Given the description of an element on the screen output the (x, y) to click on. 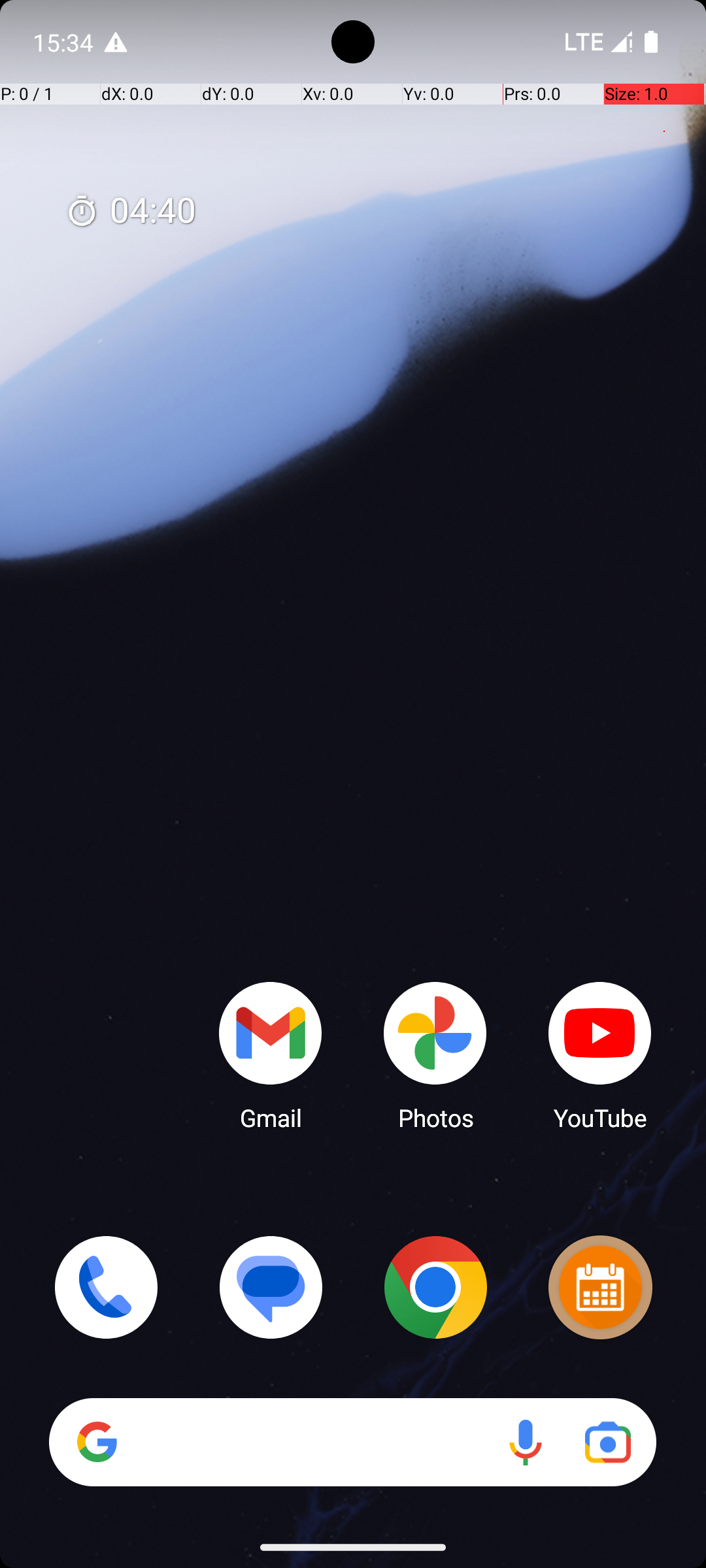
04:40 Element type: android.widget.TextView (130, 210)
